Given the description of an element on the screen output the (x, y) to click on. 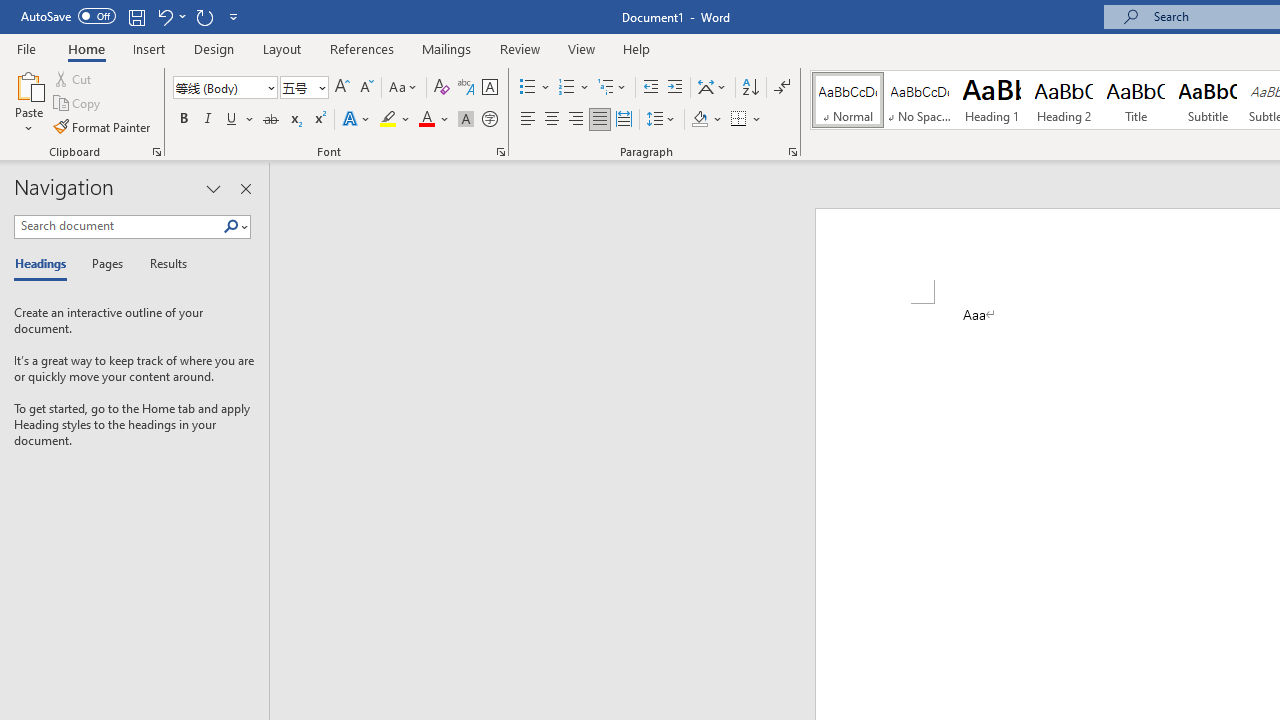
Text Highlight Color Yellow (388, 119)
Distributed (623, 119)
Strikethrough (270, 119)
Clear Formatting (442, 87)
